Given the description of an element on the screen output the (x, y) to click on. 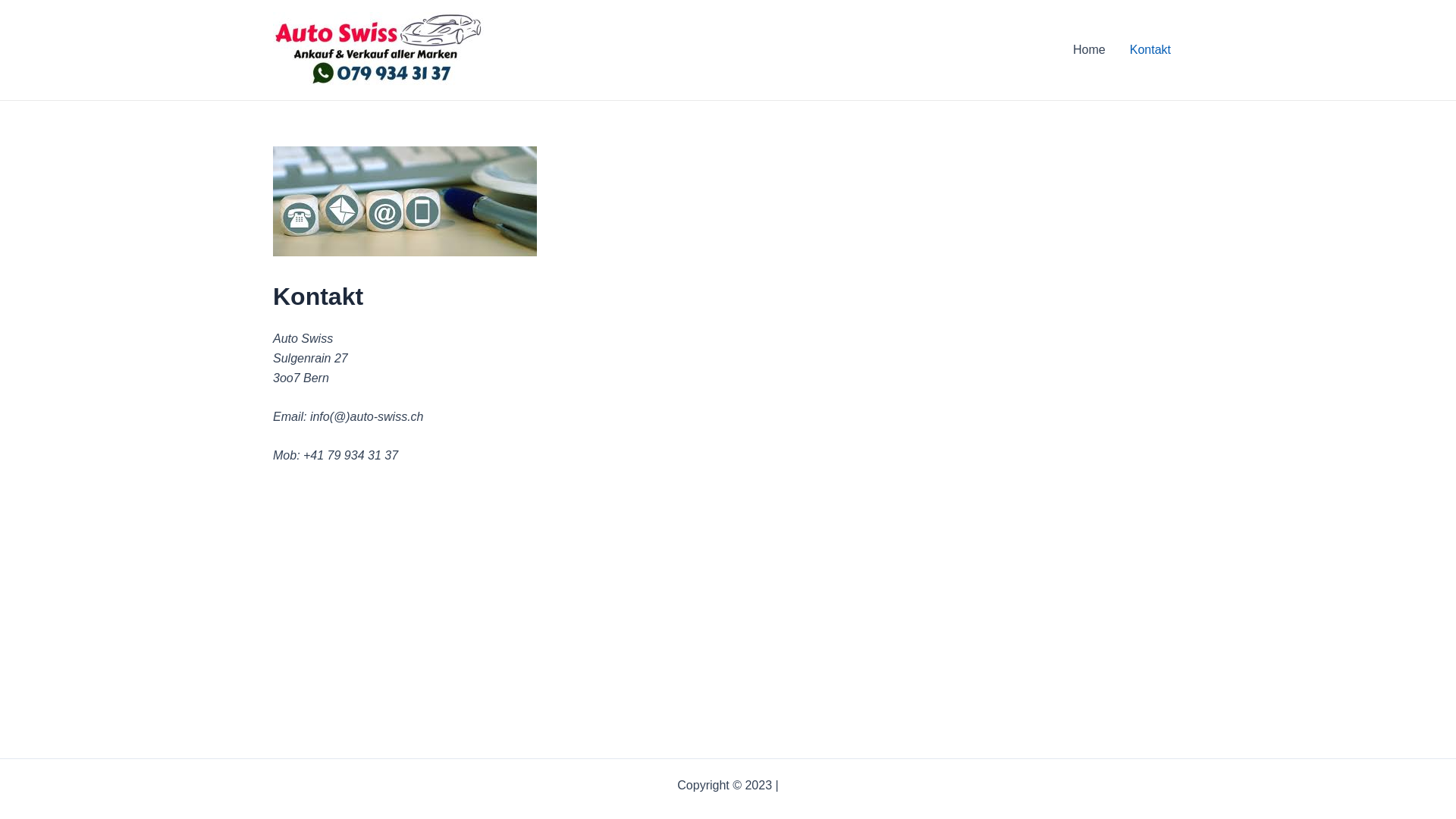
Kontakt Element type: text (1150, 49)
Home Element type: text (1088, 49)
